Given the description of an element on the screen output the (x, y) to click on. 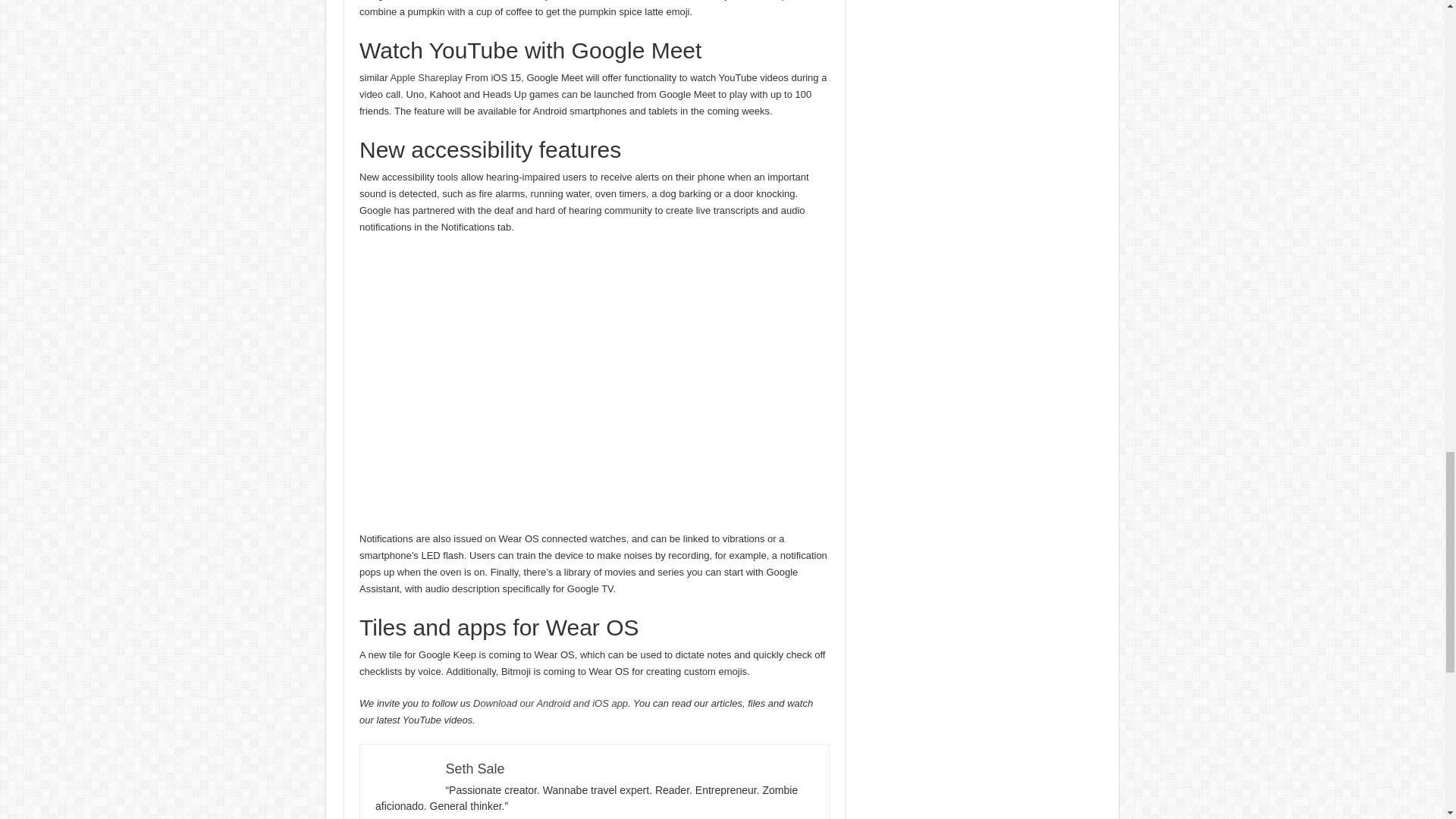
Seth Sale (474, 768)
Download our Android and iOS app (550, 703)
Apple Shareplay (425, 77)
